Given the description of an element on the screen output the (x, y) to click on. 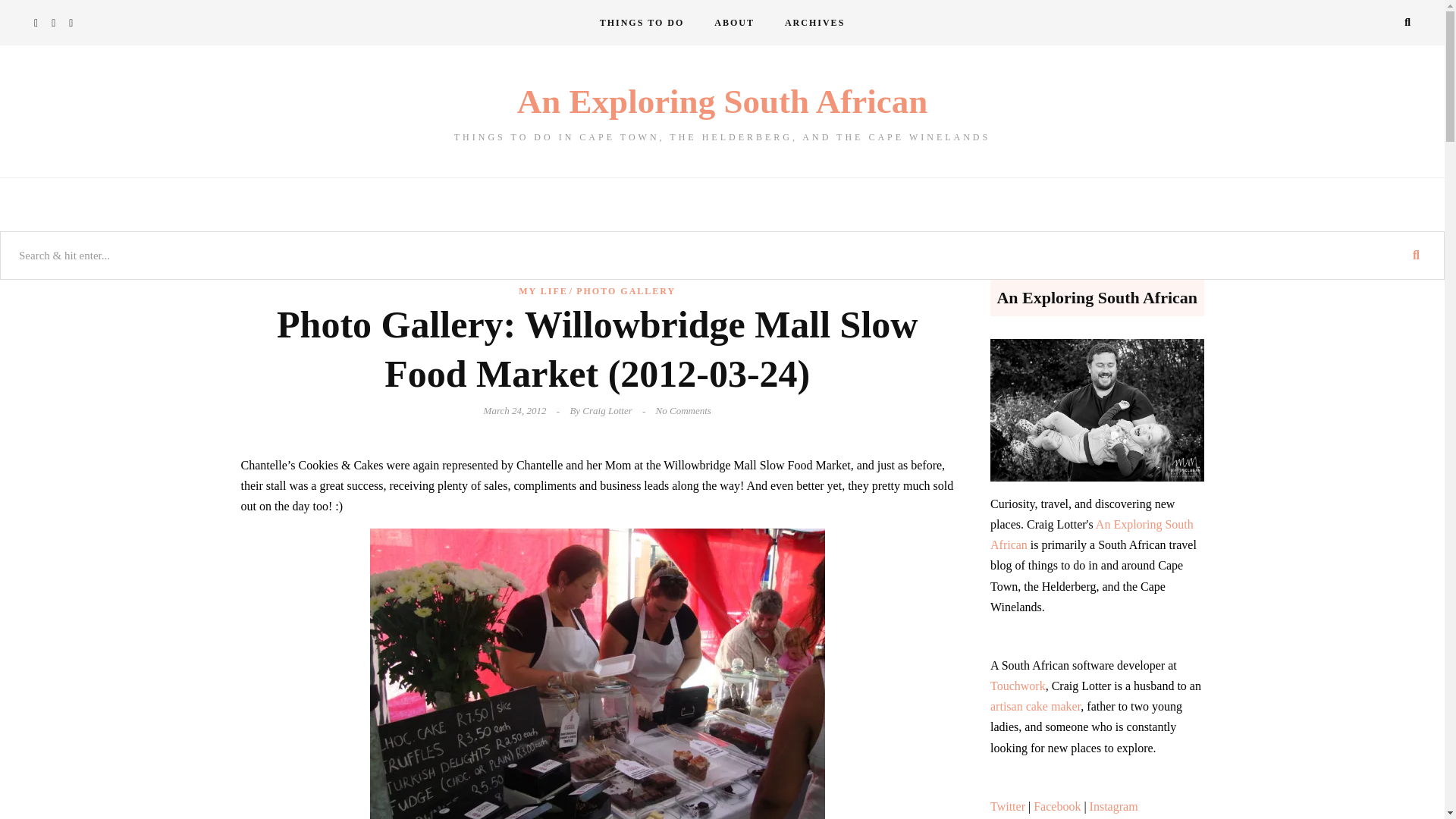
An Exploring South Africa and Craig Lotter (734, 22)
DSC04244 (597, 673)
THINGS TO DO (642, 22)
